Given the description of an element on the screen output the (x, y) to click on. 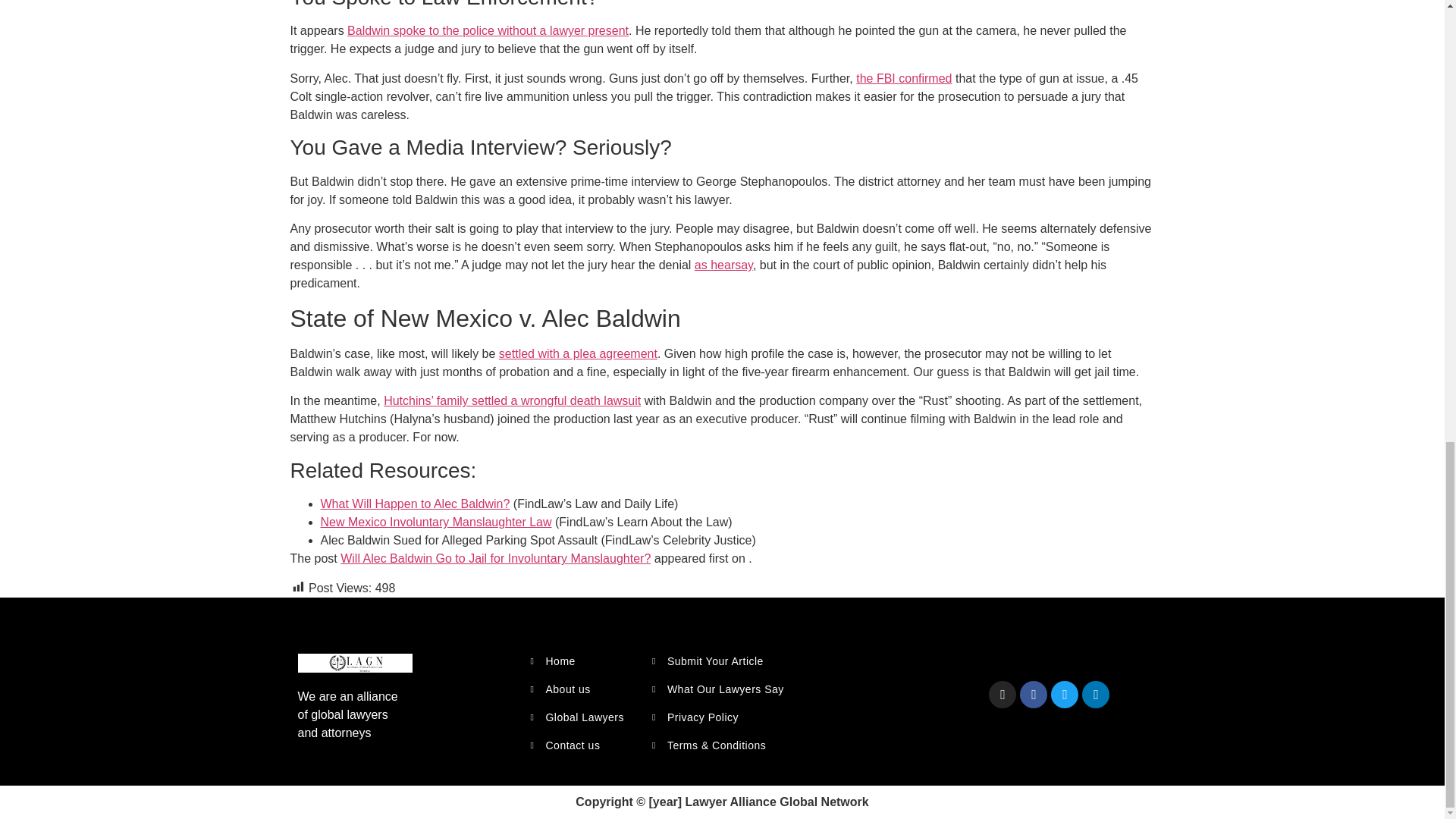
Will Alec Baldwin Go to Jail for Involuntary Manslaughter? (495, 558)
What Will Happen to Alec Baldwin? (414, 503)
Privacy Policy (727, 717)
settled with a plea agreement (578, 353)
Submit Your Article (727, 661)
Baldwin spoke to the police without a lawyer present (487, 30)
Contact us (582, 745)
Global Lawyers (582, 717)
as hearsay (723, 264)
About us (582, 689)
the FBI confirmed (904, 78)
What Our Lawyers Say (727, 689)
Home (582, 661)
New Mexico Involuntary Manslaughter Law (435, 521)
